Given the description of an element on the screen output the (x, y) to click on. 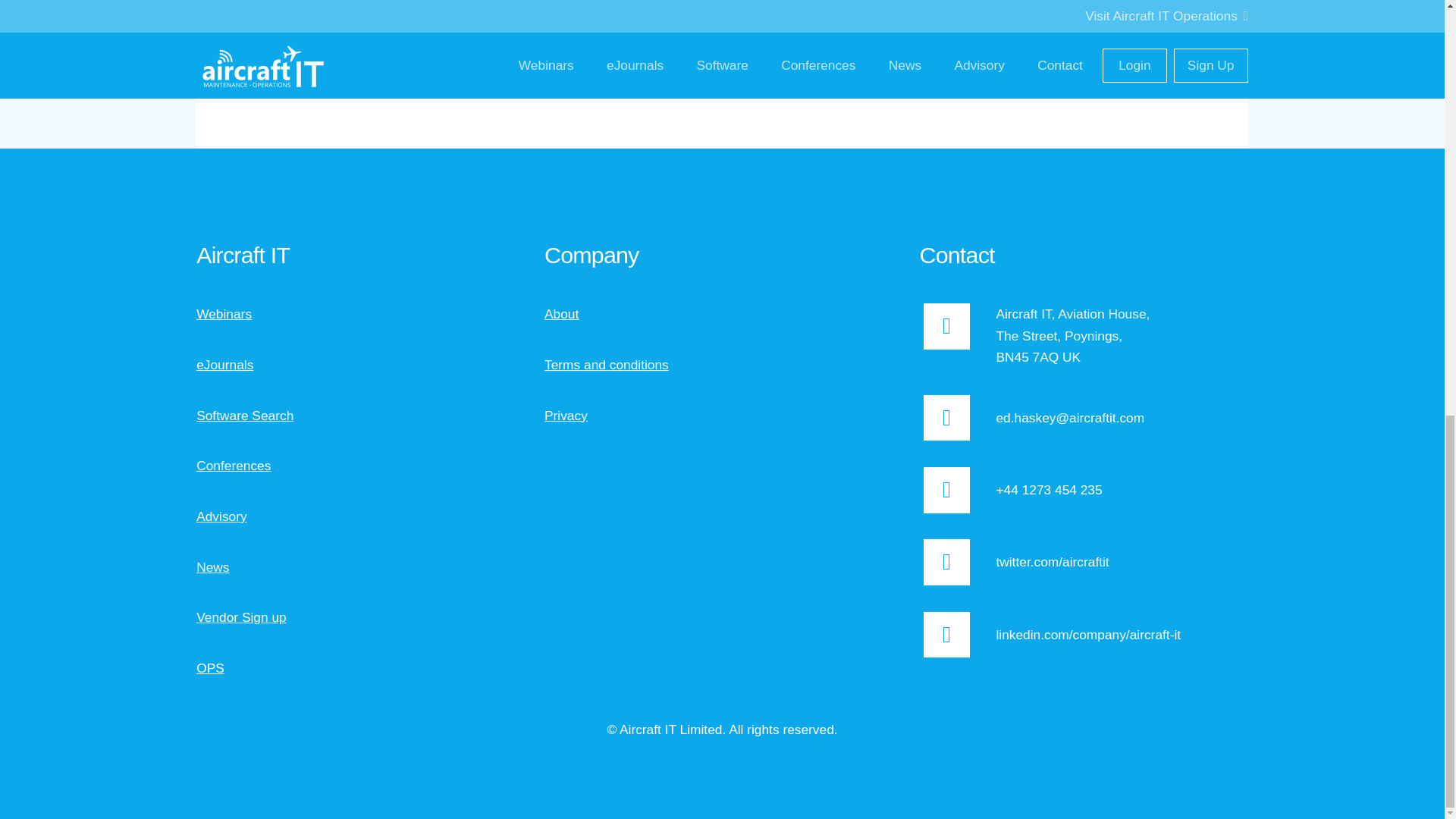
Privacy (566, 415)
About (561, 313)
Advisory (221, 516)
Webinars (223, 313)
eJournals (224, 364)
Conferences (233, 465)
News (212, 566)
Terms and conditions (606, 364)
Vendor Sign up (241, 616)
OPS (210, 667)
